Given the description of an element on the screen output the (x, y) to click on. 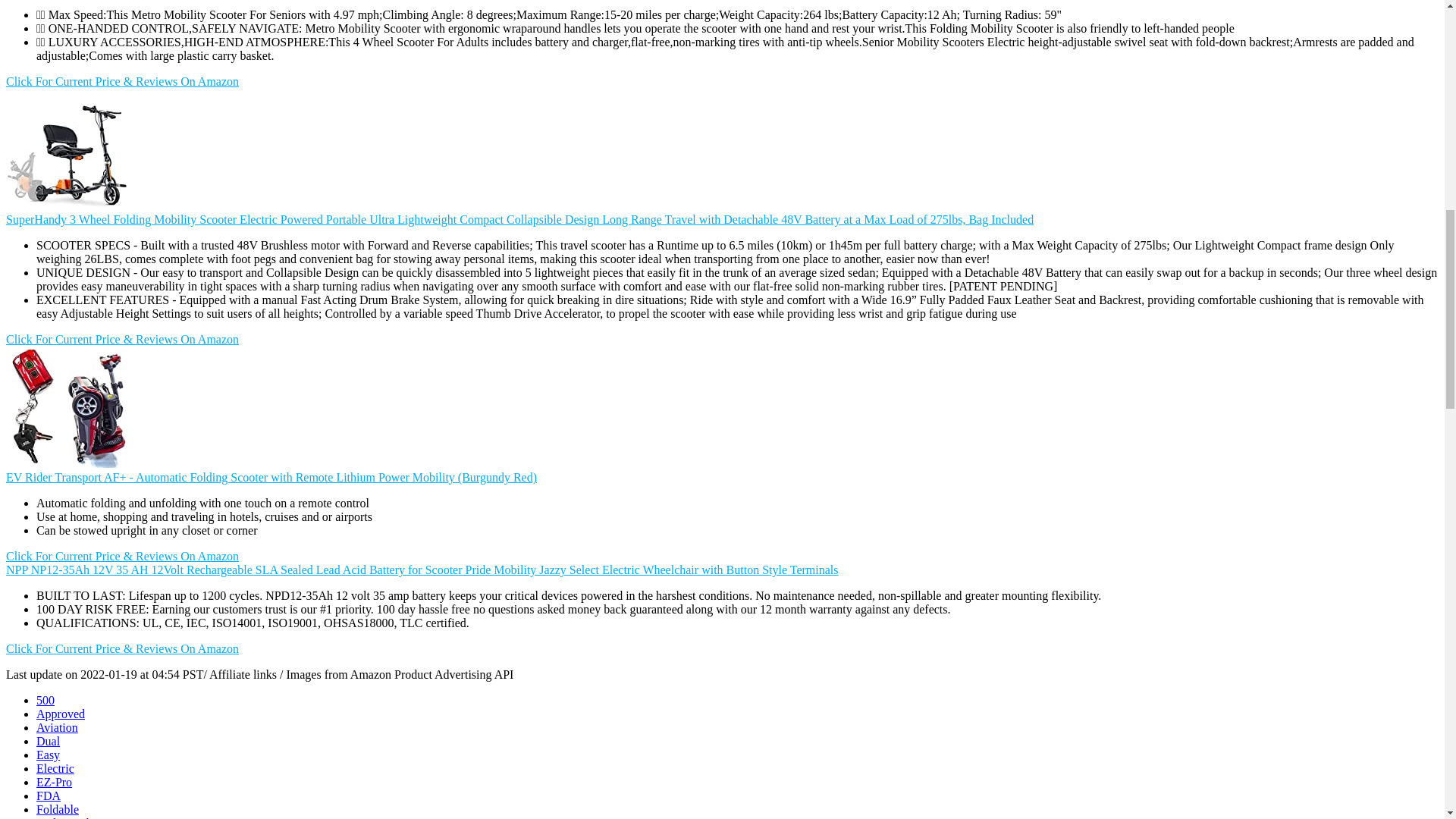
EZ-Pro (53, 781)
Approved (60, 713)
Aviation (57, 727)
Easy (47, 754)
Dual (47, 740)
Foldable (57, 809)
Electric (55, 768)
500 (45, 699)
FDA (48, 795)
